Given the description of an element on the screen output the (x, y) to click on. 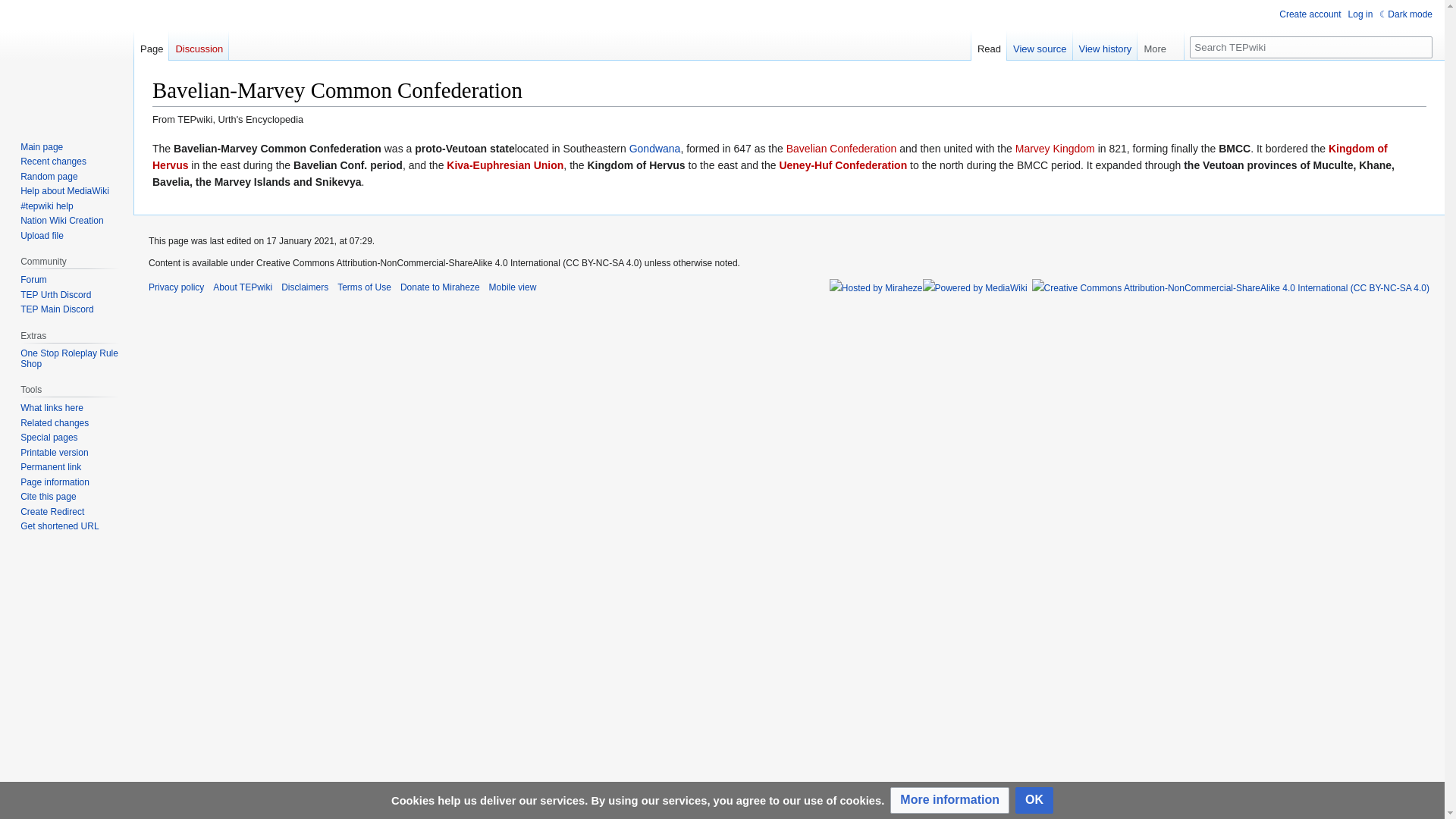
More options (1160, 45)
Upload file (42, 235)
Forum (33, 279)
TEP Urth Discord (55, 294)
Recent changes (52, 161)
Random page (48, 176)
Ueney-Huf Confederation (842, 164)
Bavelian Confederation (841, 148)
TEP Main Discord (56, 308)
Search (1420, 46)
Search the pages for this text (1420, 46)
More information (949, 800)
Nation Wiki Creation (61, 220)
One Stop Roleplay Rule Shop (68, 358)
